Given the description of an element on the screen output the (x, y) to click on. 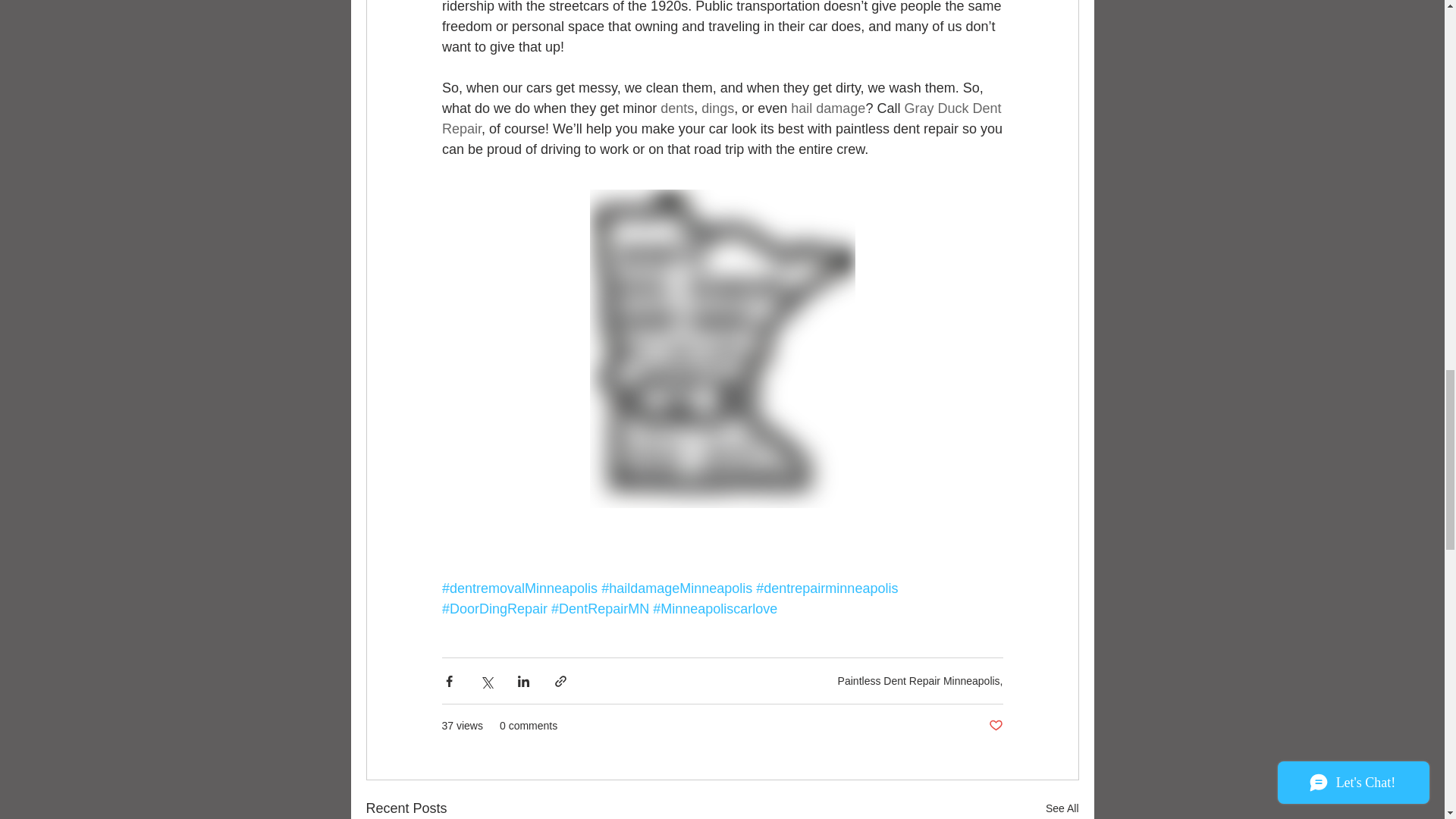
dents (677, 108)
hail damage (827, 108)
Gray Duck Dent Repair (722, 118)
